Given the description of an element on the screen output the (x, y) to click on. 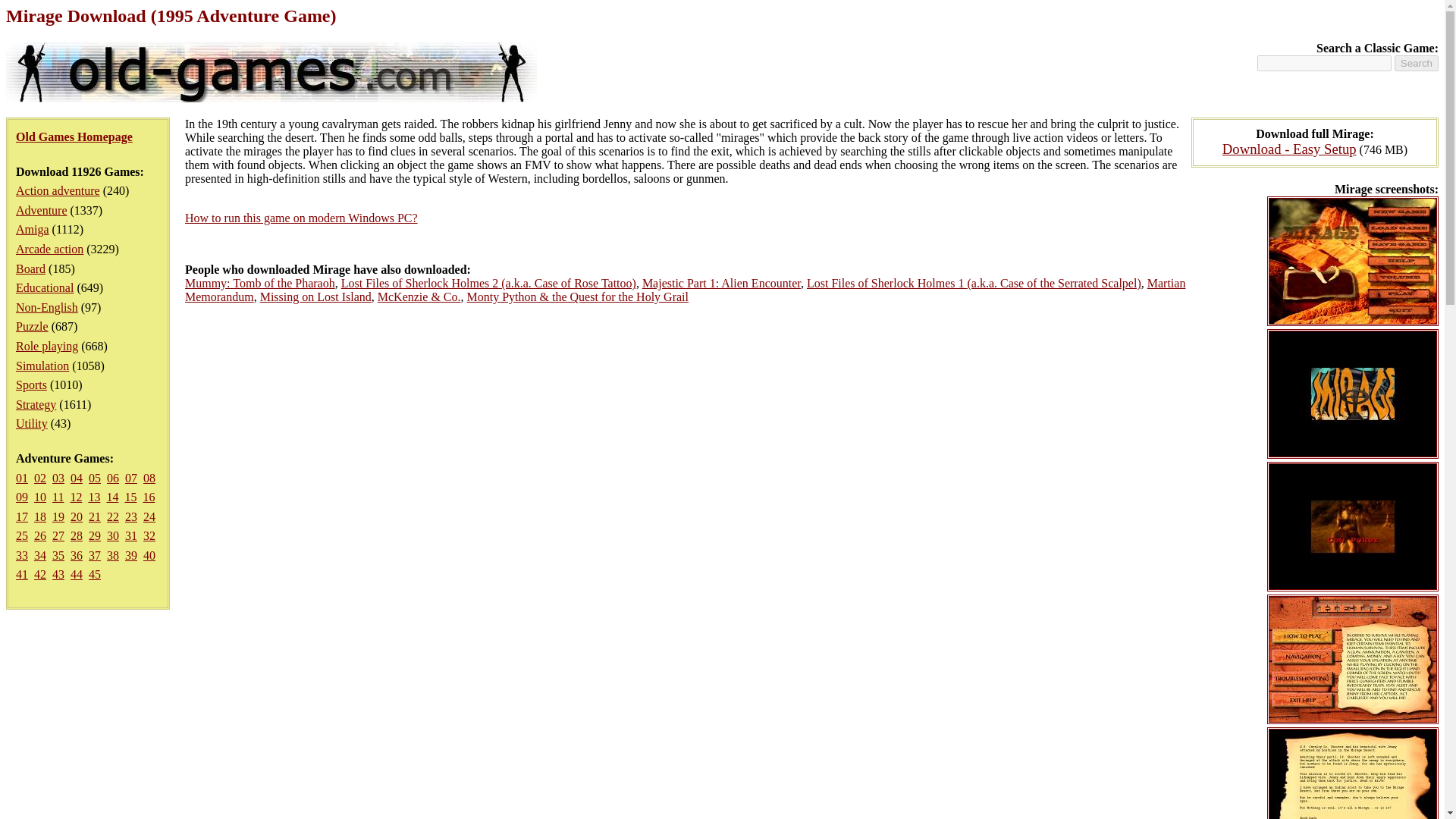
16 (148, 496)
Adventure (41, 210)
21 (94, 516)
Search (1416, 63)
12 (75, 496)
Simulation (42, 365)
06 (112, 477)
04 (75, 477)
15 (129, 496)
Search (1416, 63)
Sports (31, 384)
Action adventure (58, 190)
24 (148, 516)
18 (39, 516)
Strategy (36, 404)
